Given the description of an element on the screen output the (x, y) to click on. 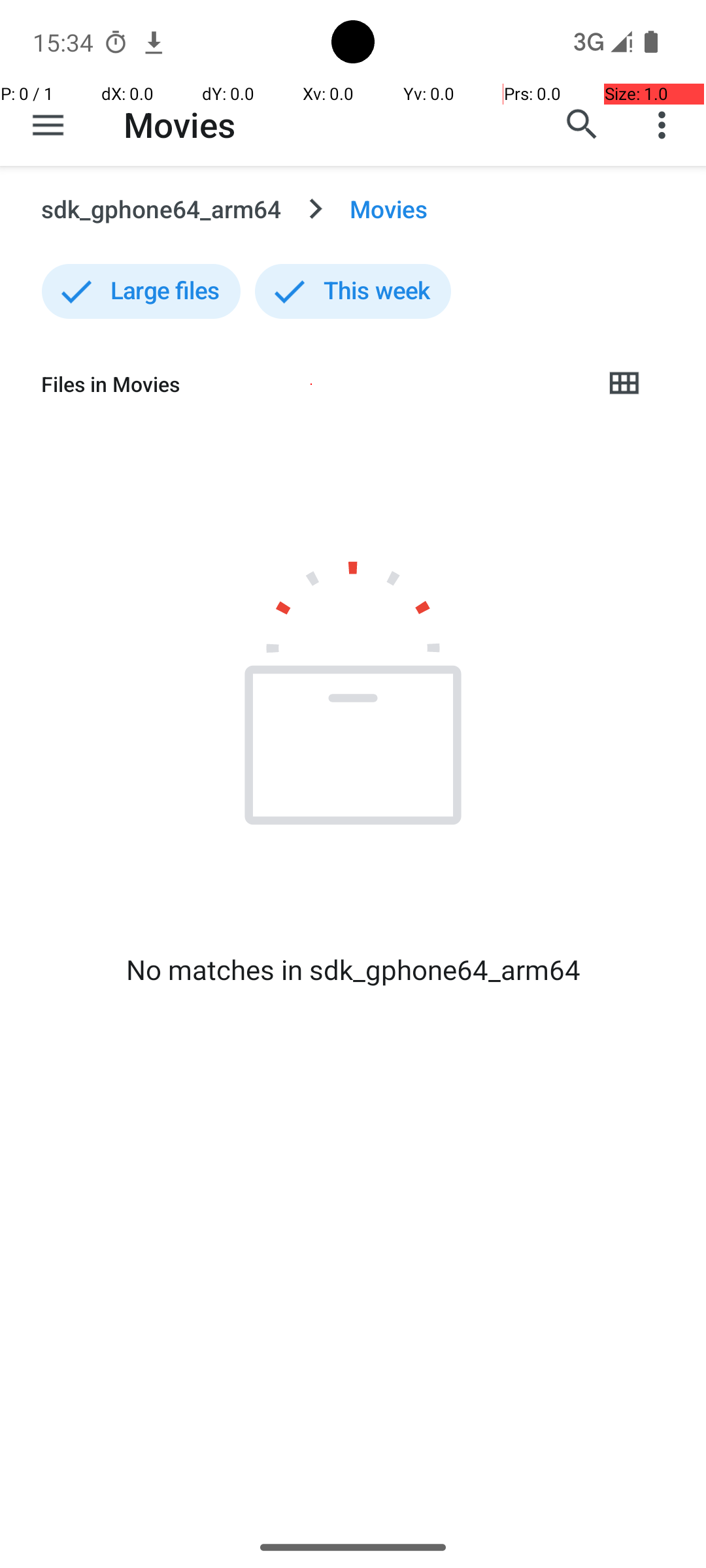
Files in Movies Element type: android.widget.TextView (311, 383)
No matches in sdk_gphone64_arm64 Element type: android.widget.TextView (353, 968)
